Given the description of an element on the screen output the (x, y) to click on. 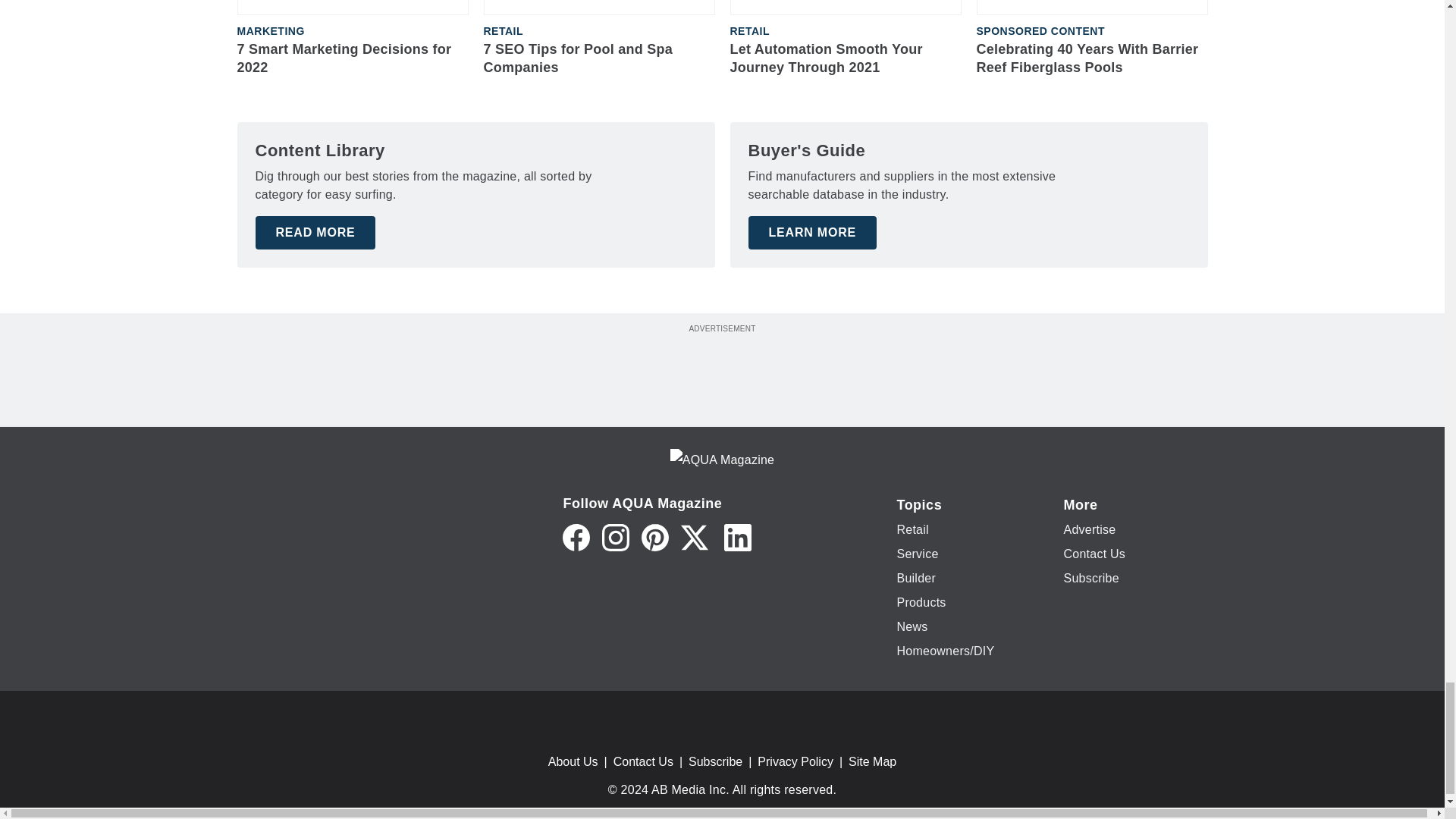
Twitter X icon (694, 537)
Pinterest icon (655, 537)
Facebook icon (575, 537)
LinkedIn icon (737, 537)
Instagram icon (615, 537)
